Given the description of an element on the screen output the (x, y) to click on. 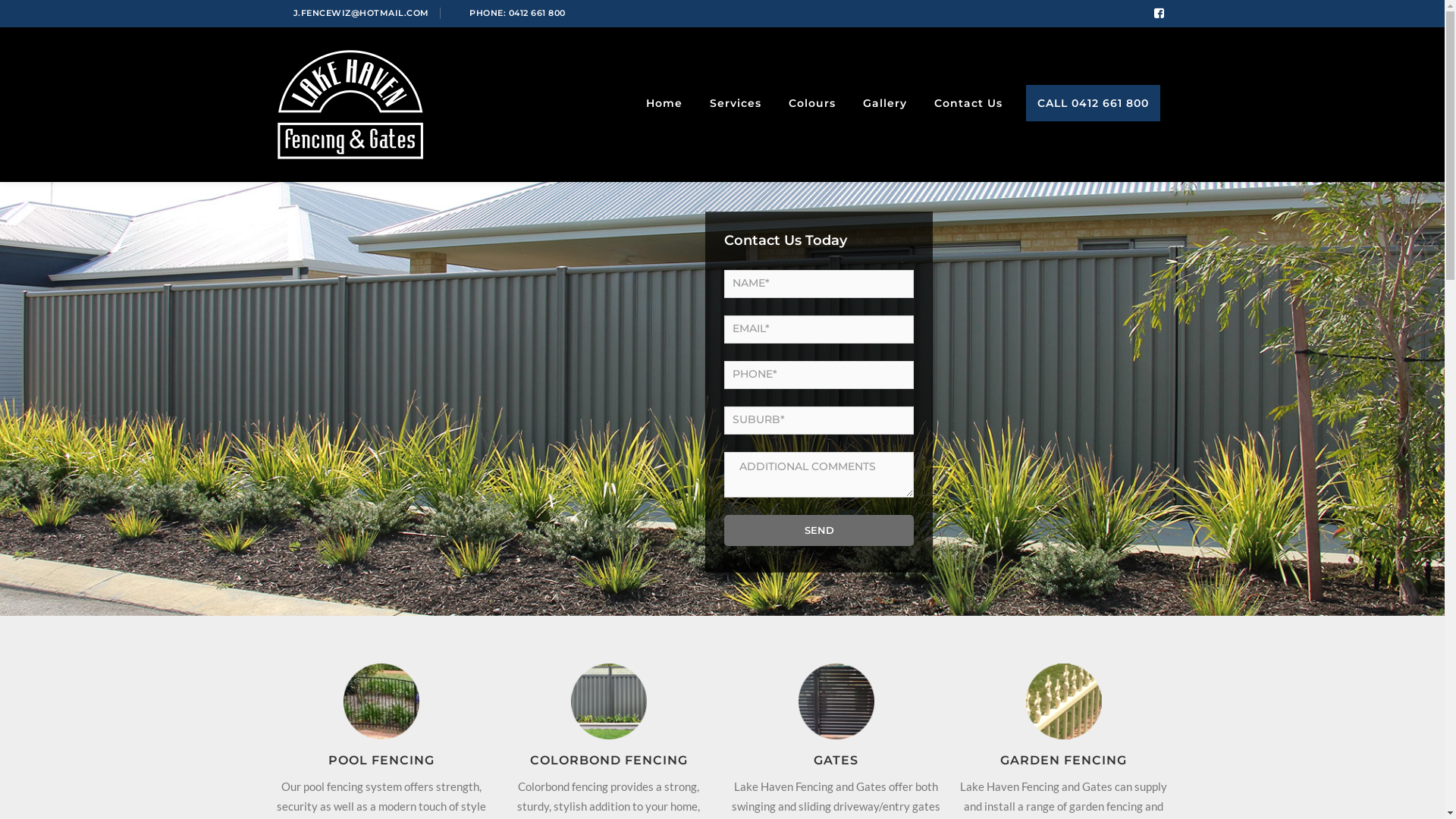
Gallery Element type: text (884, 102)
GATES Element type: text (835, 760)
Services Element type: text (734, 102)
Home Element type: text (663, 102)
CALL 0412 661 800 Element type: text (1092, 102)
Colours Element type: text (811, 102)
GARDEN FENCING Element type: text (1063, 760)
POOL FENCING Element type: text (380, 760)
Lake Haven Fencing and Gates Element type: hover (349, 102)
COLORBOND FENCING Element type: text (608, 760)
Send Element type: text (818, 530)
Facebook Profile Element type: text (1158, 13)
Contact Us Element type: text (967, 102)
